Given the description of an element on the screen output the (x, y) to click on. 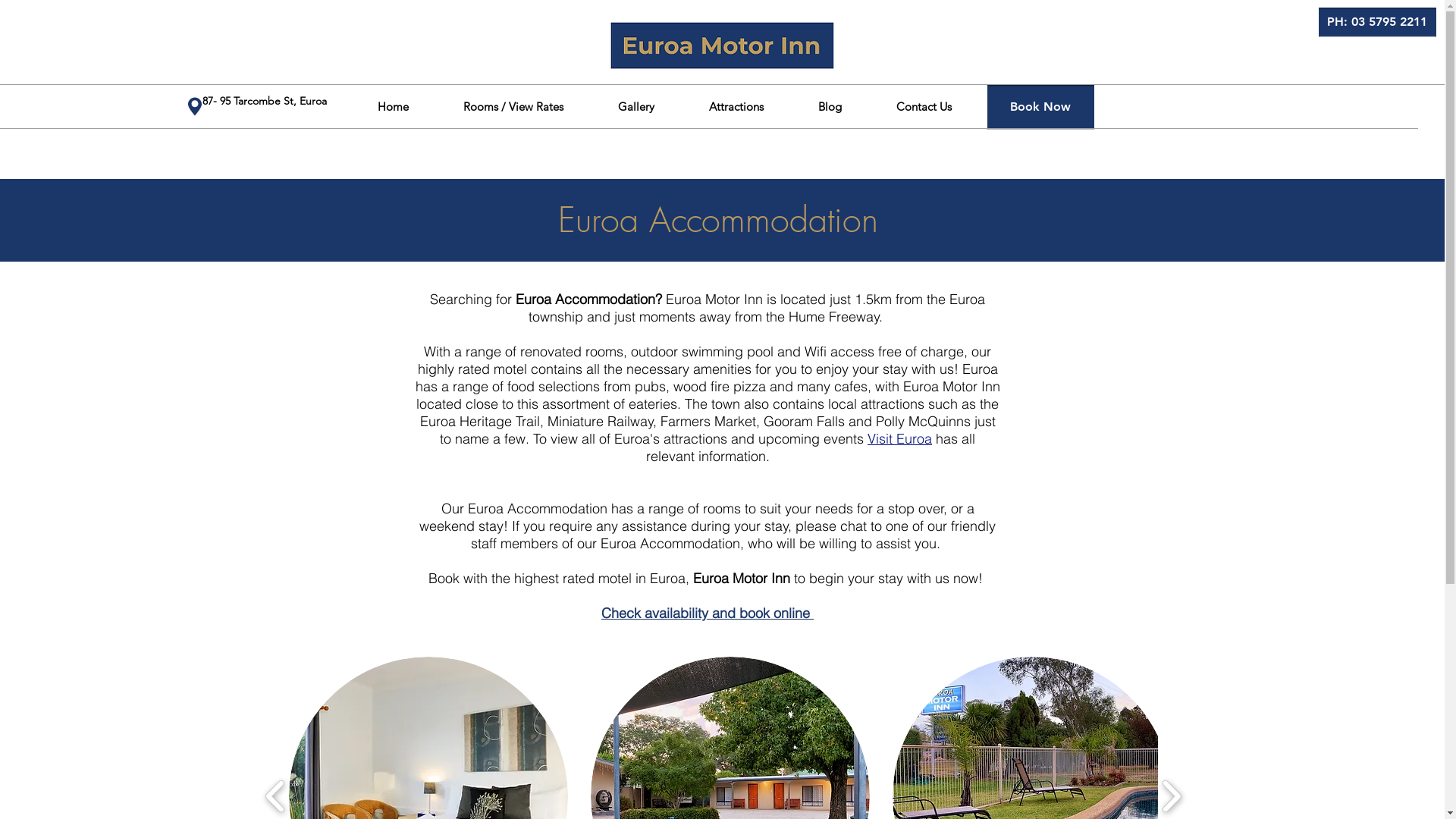
Rooms / View Rates Element type: text (512, 106)
Attractions Element type: text (735, 106)
Home Element type: text (392, 106)
87- 95 Tarcombe St, Euroa Element type: text (264, 100)
Gallery Element type: text (634, 106)
Book Now Element type: text (1040, 106)
Restaurant Social Bar Element type: hover (1145, 106)
PH: 03 5795 2211 Element type: text (1376, 22)
Contact Us Element type: text (924, 106)
Visit Euroa Element type: text (899, 438)
Embedded Content Element type: hover (124, 72)
Blog Element type: text (829, 106)
Check availability and book online  Element type: text (707, 612)
Embedded Content Element type: hover (150, 72)
